Given the description of an element on the screen output the (x, y) to click on. 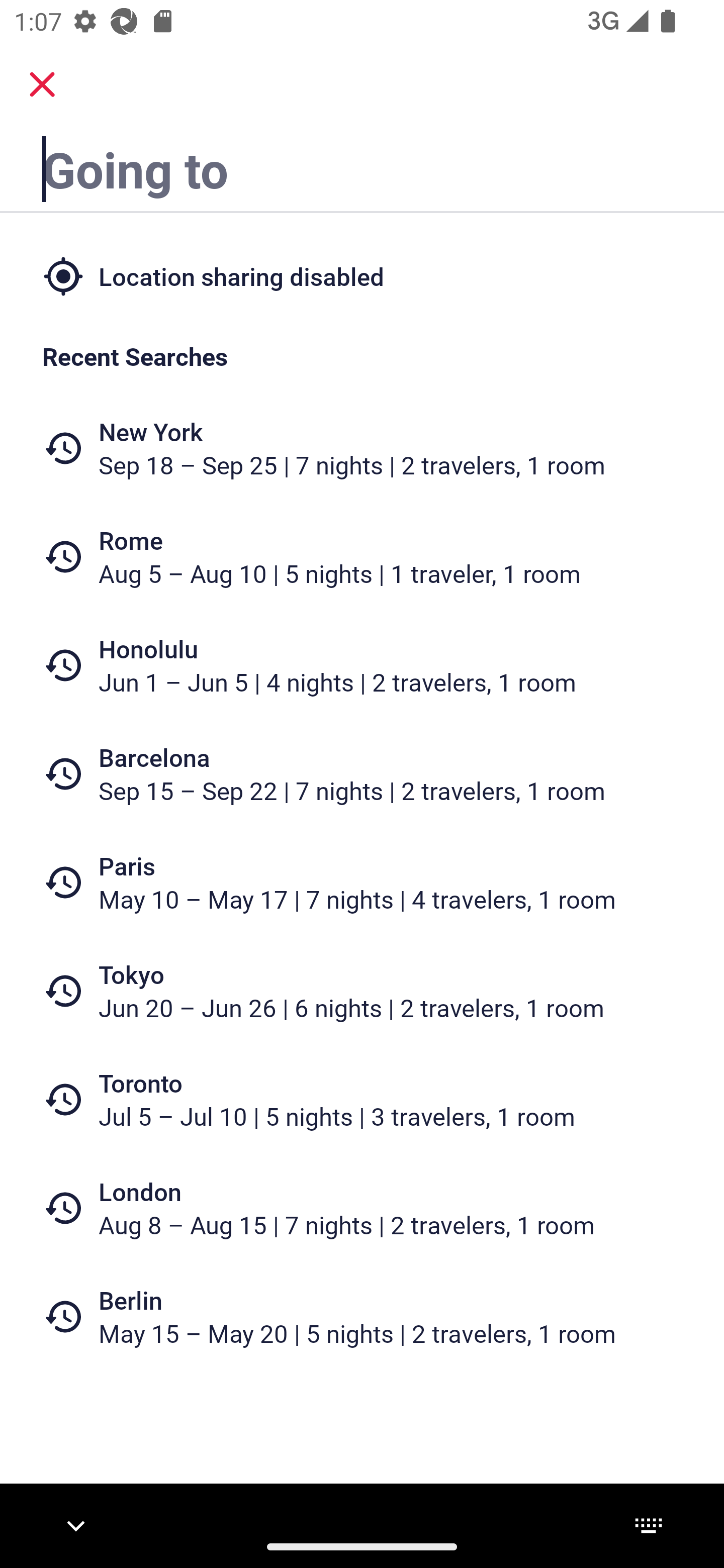
close. (42, 84)
Location sharing disabled (362, 275)
